Given the description of an element on the screen output the (x, y) to click on. 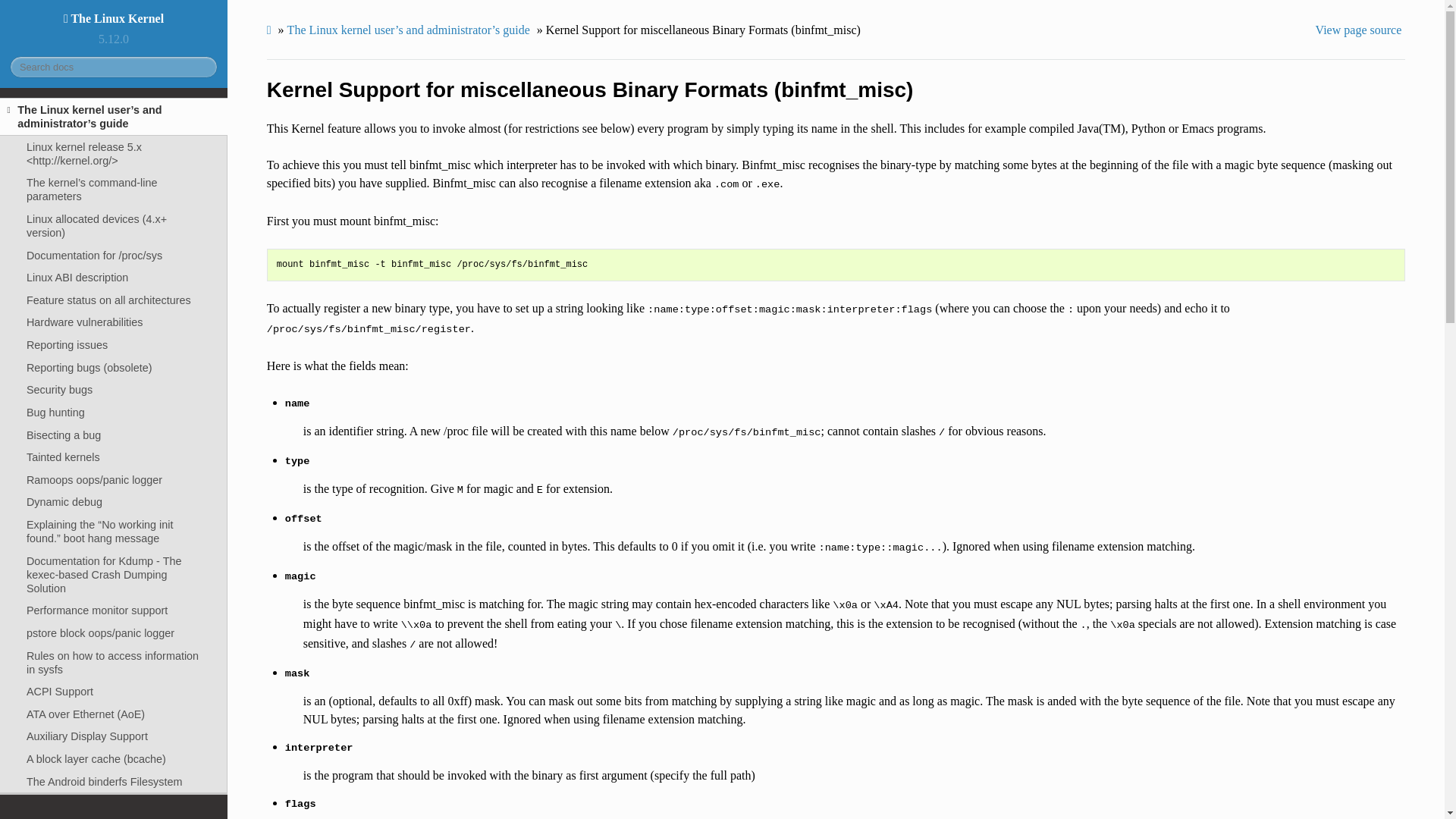
Auxiliary Display Support (113, 736)
Hardware vulnerabilities (113, 323)
Tainted kernels (113, 456)
Security bugs (113, 389)
Bisecting a bug (113, 435)
Feature status on all architectures (113, 300)
The Linux Kernel (113, 18)
Performance monitor support (113, 609)
Rules on how to access information in sysfs (113, 662)
ACPI Support (113, 691)
Dynamic debug (113, 502)
Bug hunting (113, 412)
Linux ABI description (113, 277)
The Android binderfs Filesystem (113, 781)
